Given the description of an element on the screen output the (x, y) to click on. 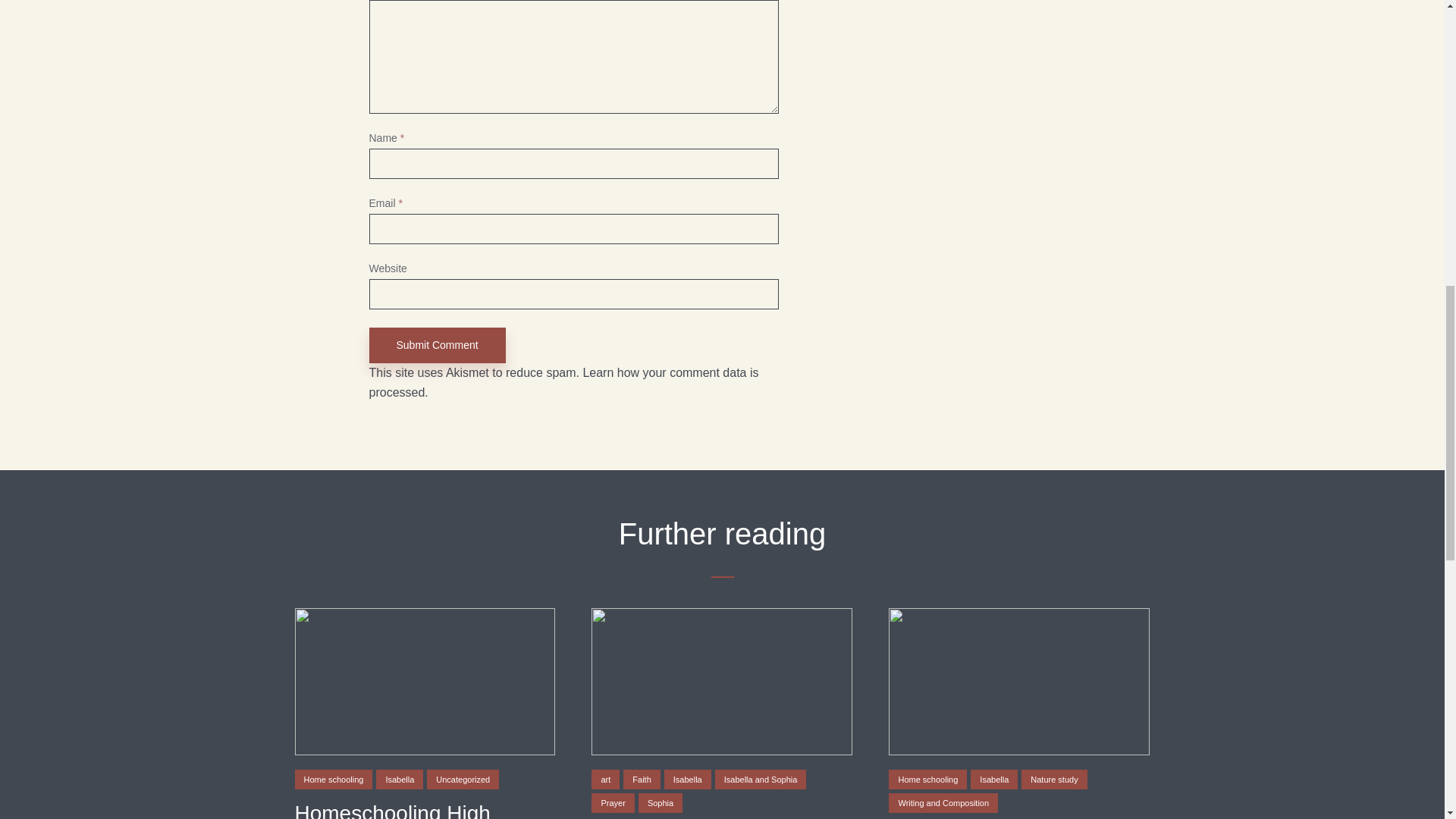
Isabella (399, 779)
Prayer (612, 803)
Faith (641, 779)
Isabella (687, 779)
Learn how your comment data is processed (563, 382)
Home schooling (333, 779)
Submit Comment (436, 345)
art (605, 779)
Homeschooling High School First Impressions (424, 809)
Submit Comment (436, 345)
Isabella and Sophia (760, 779)
Uncategorized (462, 779)
